Given the description of an element on the screen output the (x, y) to click on. 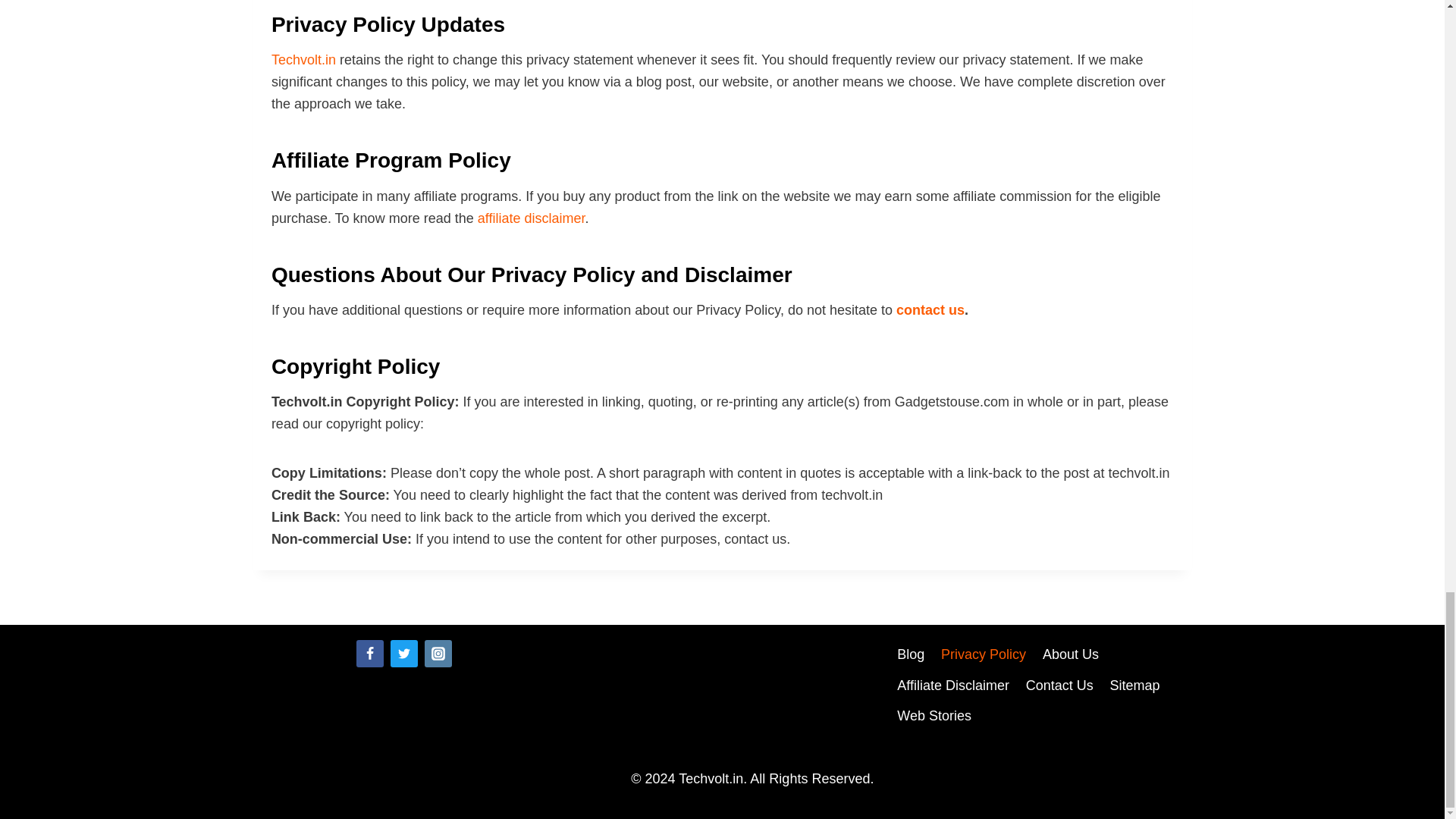
Sitemap (1135, 685)
Affiliate Disclaimer (952, 685)
Blog (910, 654)
Privacy Policy (983, 654)
affiliate disclaimer (531, 218)
Techvolt.in (303, 59)
Web Stories (933, 716)
About Us (1069, 654)
contact us (929, 309)
Contact Us (1059, 685)
